Given the description of an element on the screen output the (x, y) to click on. 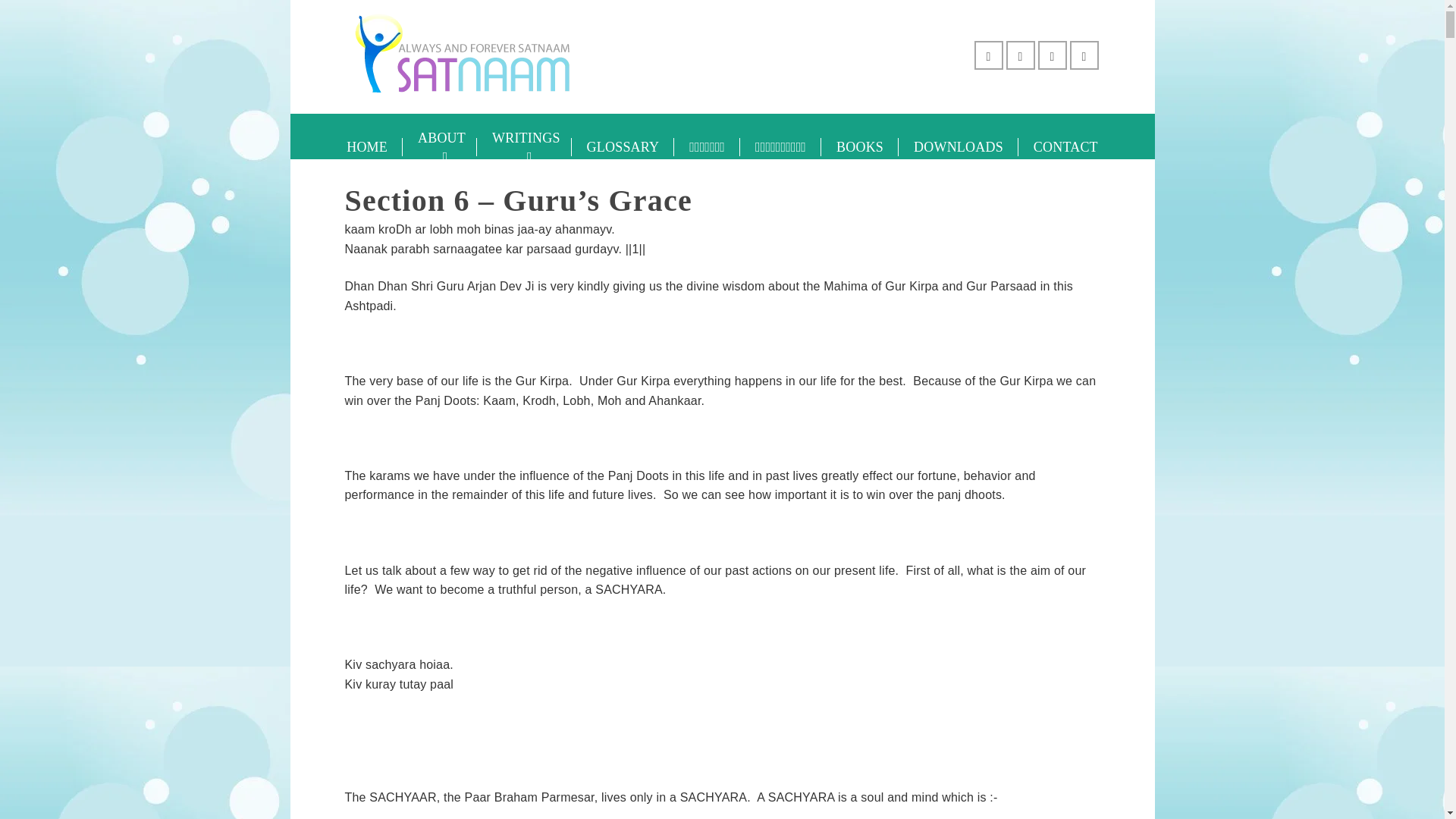
DOWNLOADS (957, 146)
GLOSSARY (623, 146)
BOOKS (859, 146)
CONTACT (1065, 146)
WRITINGS (524, 146)
ABOUT (440, 146)
HOME (367, 146)
